Given the description of an element on the screen output the (x, y) to click on. 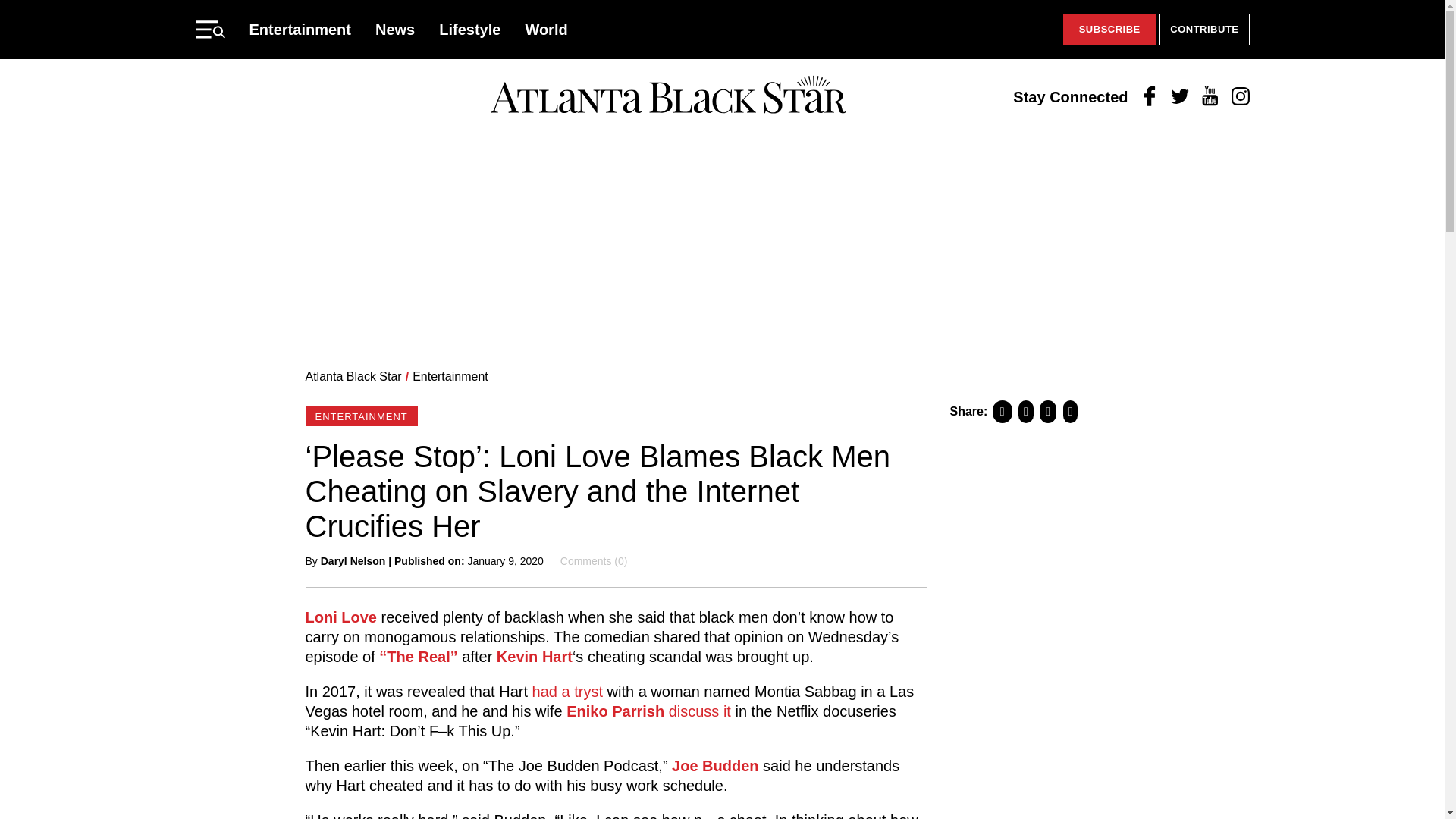
Go to Atlanta Black Star. (352, 376)
Entertainment (299, 29)
CONTRIBUTE (1203, 29)
Entertainment (449, 376)
Lifestyle (469, 29)
ENTERTAINMENT (360, 415)
Atlanta Black Star (667, 96)
Atlanta Black Star (352, 376)
News (394, 29)
Go to the Entertainment Category archives. (449, 376)
